Given the description of an element on the screen output the (x, y) to click on. 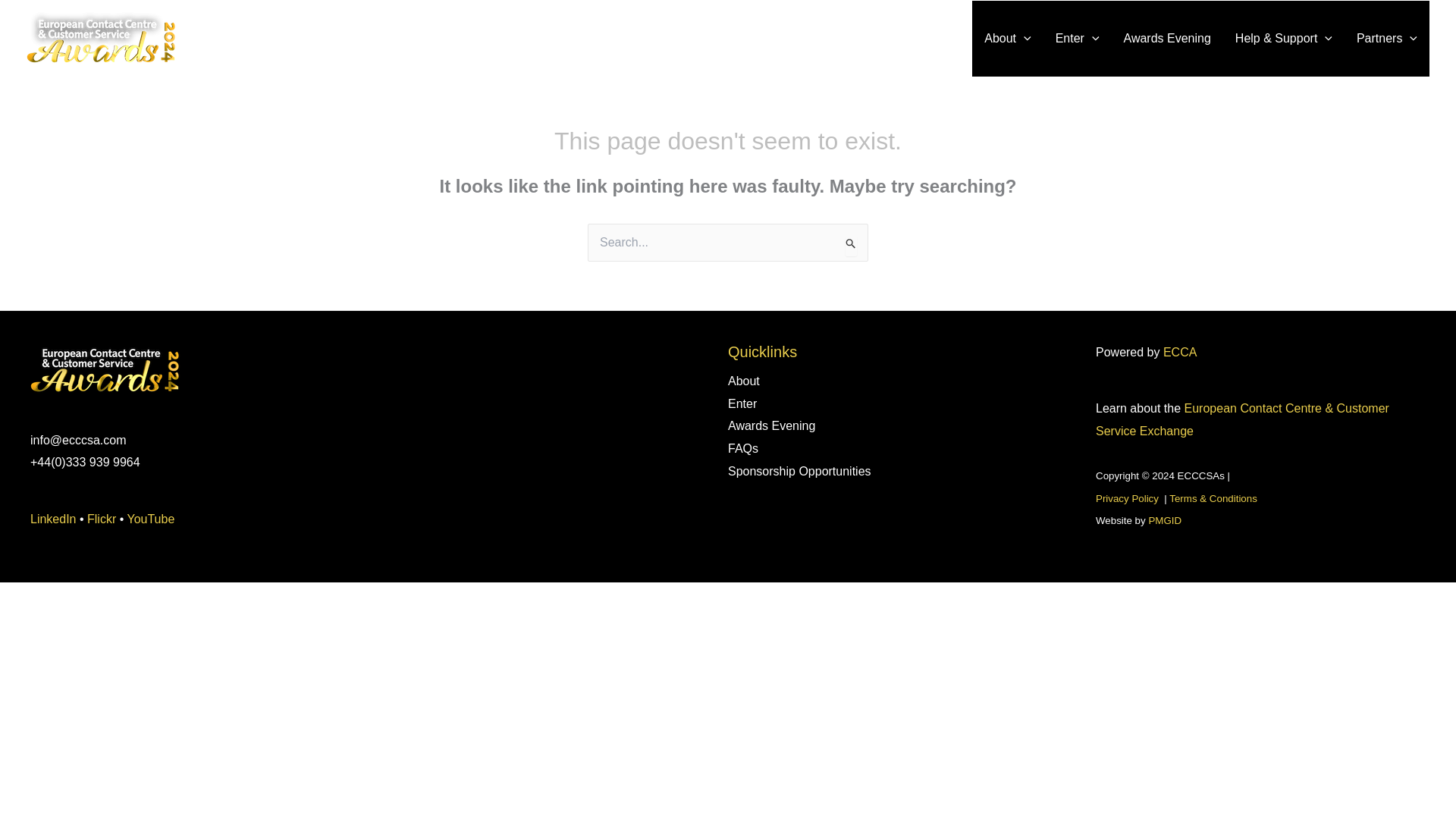
Partners (1386, 38)
Enter (1077, 38)
About (1007, 38)
Awards Evening (1167, 38)
